Given the description of an element on the screen output the (x, y) to click on. 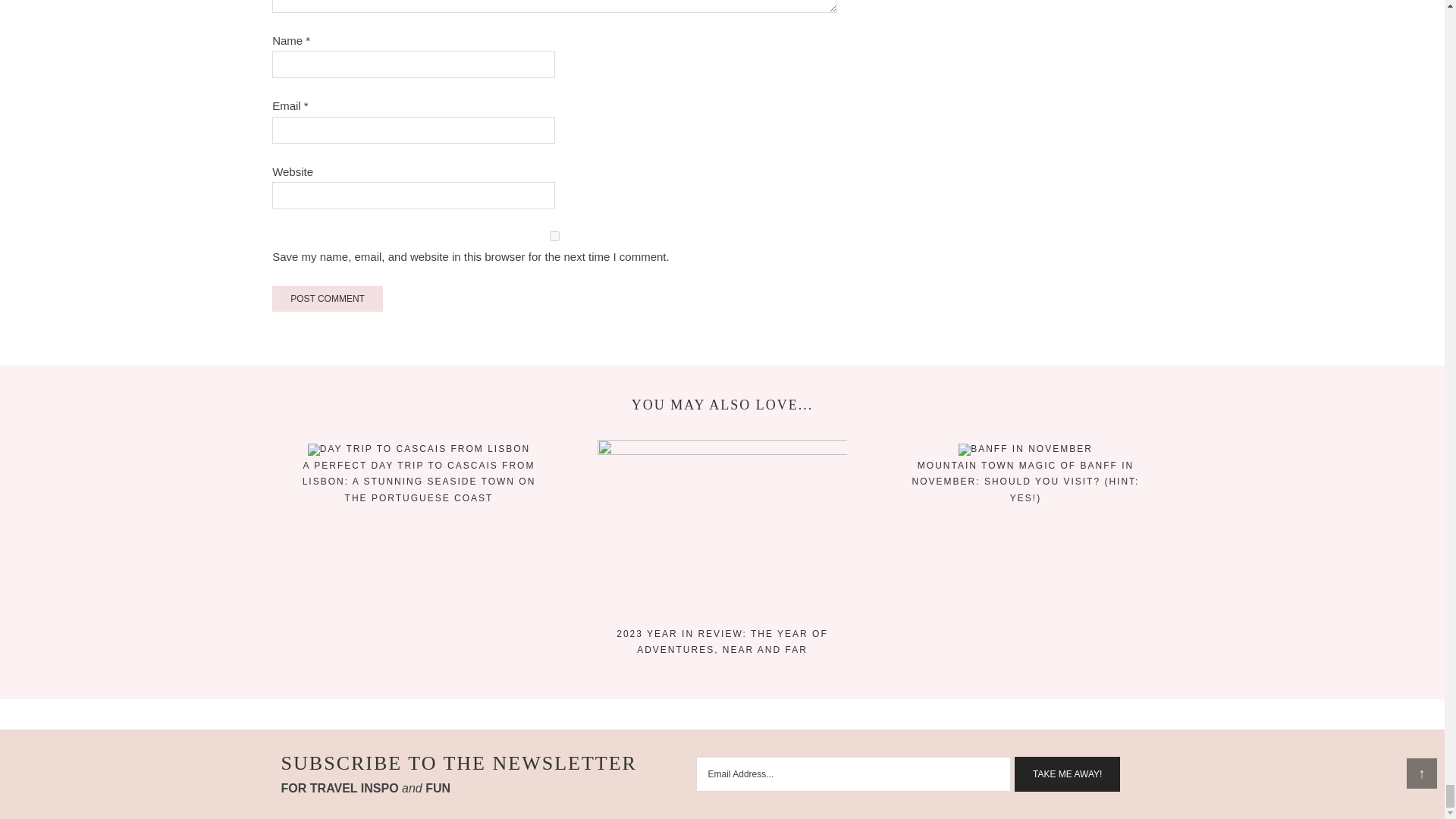
Post Comment (327, 298)
yes (554, 235)
Take Me Away! (1066, 773)
